Given the description of an element on the screen output the (x, y) to click on. 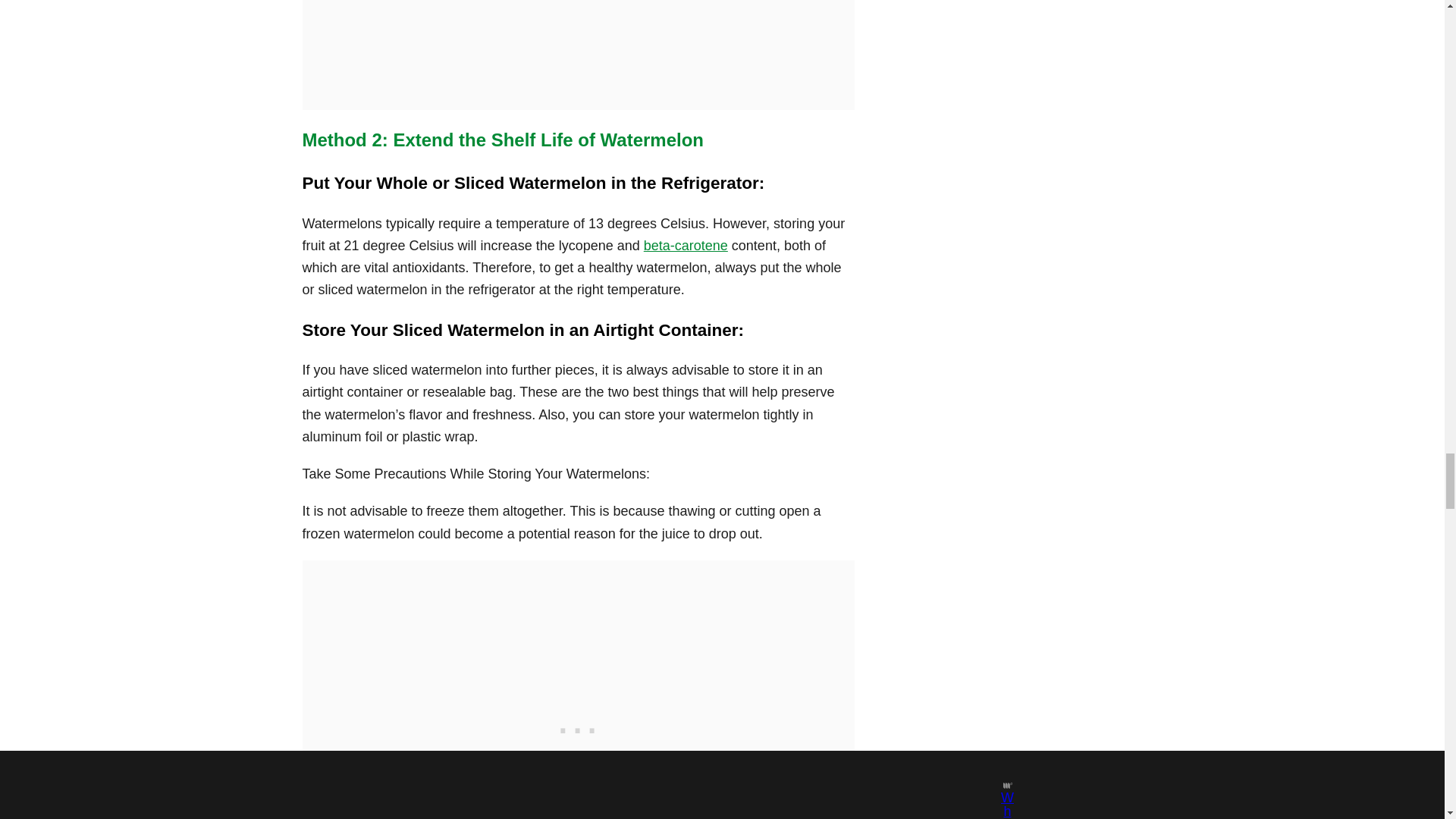
beta-carotene (685, 245)
